Given the description of an element on the screen output the (x, y) to click on. 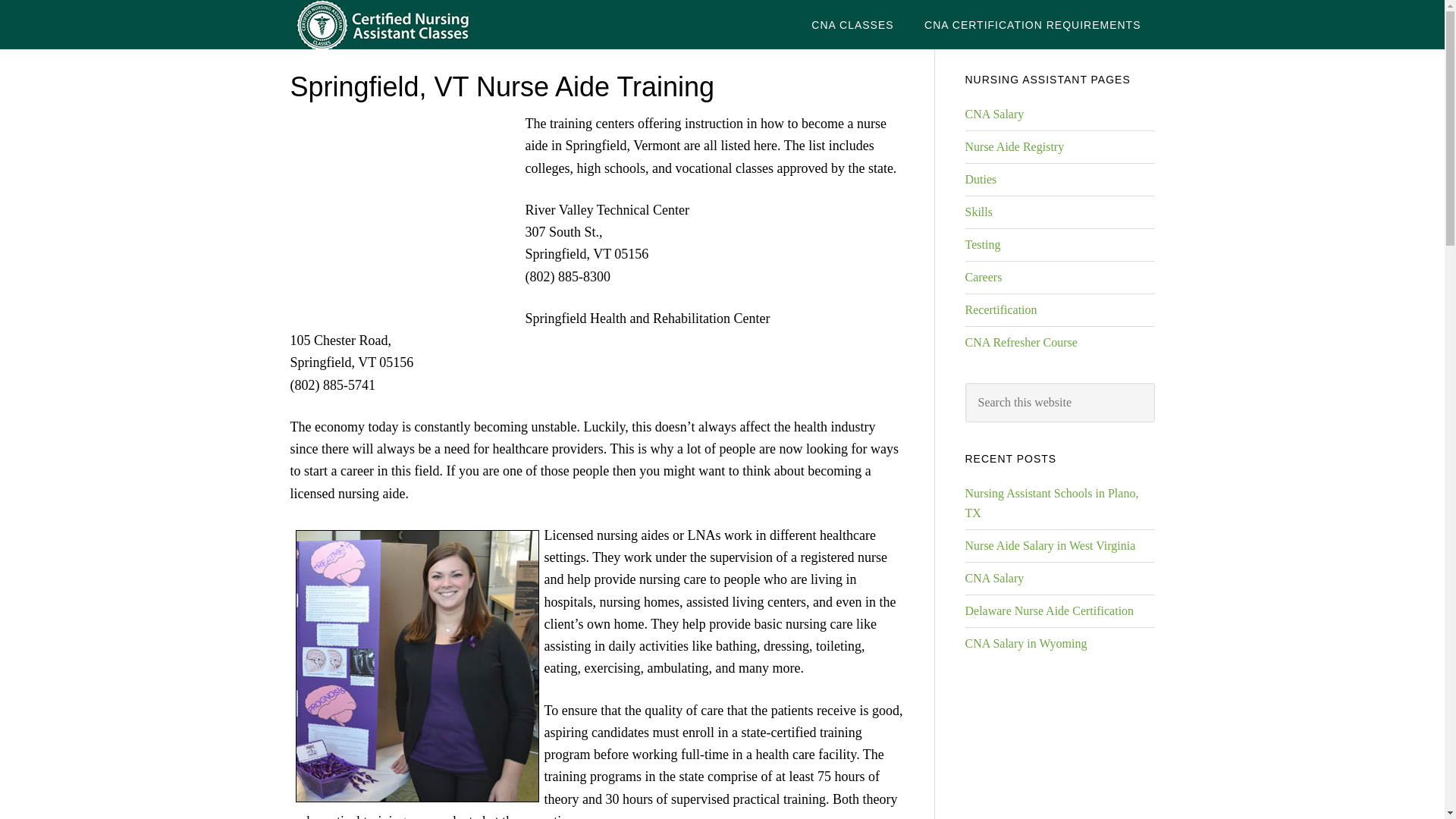
Advertisement (402, 215)
CNA Salary in Wyoming (1024, 643)
Delaware Nurse Aide Certification (1048, 610)
Testing (981, 244)
Nurse Aide Salary in West Virginia (1049, 545)
CNA Salary (993, 113)
Recertification (999, 309)
CNA Salary (993, 577)
Duties (979, 178)
Nurse Aide Registry (1013, 146)
Nursing Assistant Schools in Plano, TX (1050, 502)
Careers (982, 277)
